Given the description of an element on the screen output the (x, y) to click on. 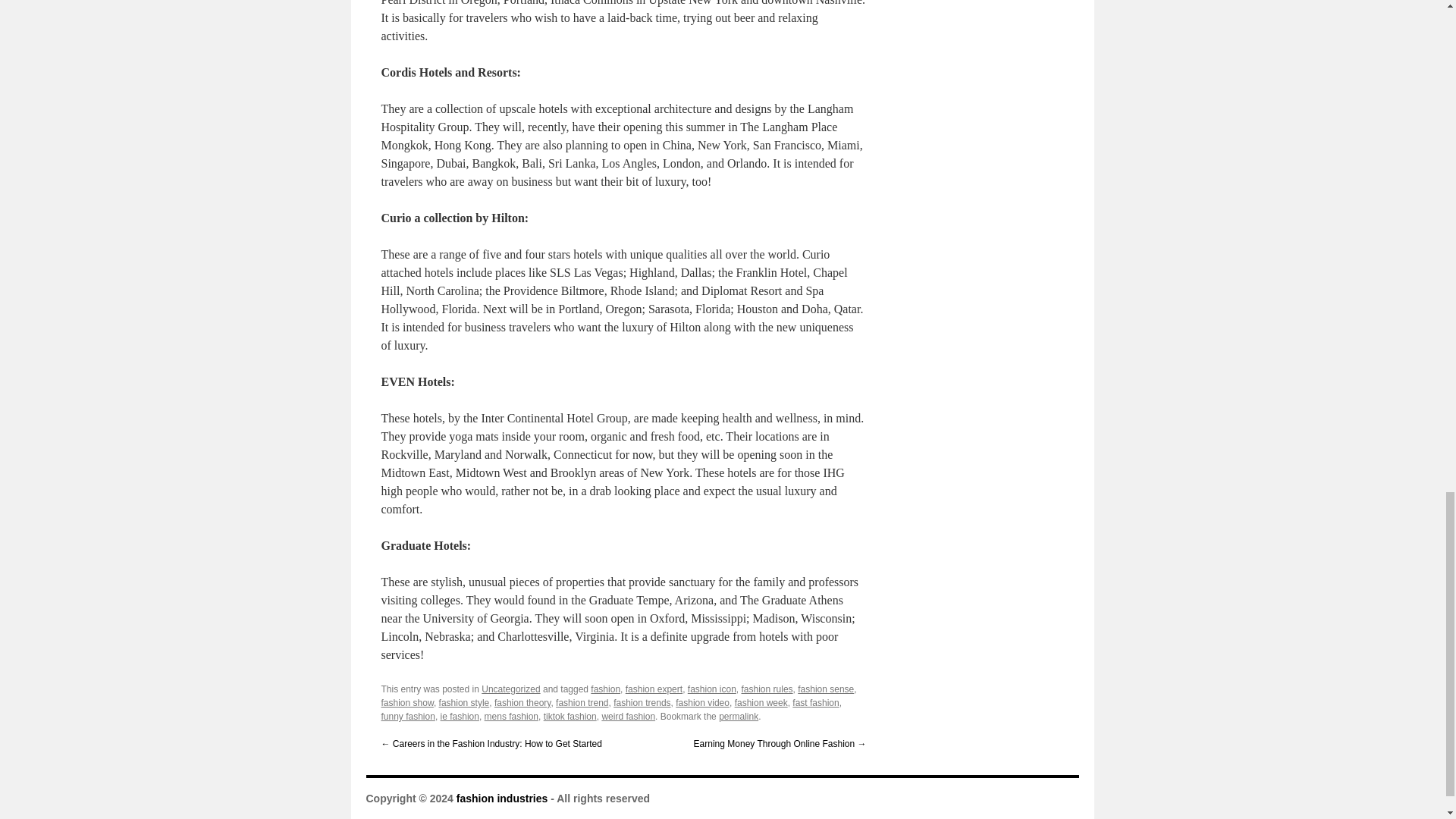
fashion theory (523, 702)
fashion style (464, 702)
mens fashion (511, 716)
fashion icon (711, 688)
fashion (605, 688)
fashion sense (825, 688)
Uncategorized (510, 688)
fashion video (702, 702)
ie fashion (460, 716)
Permalink to How Travel Is Reshaping the Fashion Industry (738, 716)
